Given the description of an element on the screen output the (x, y) to click on. 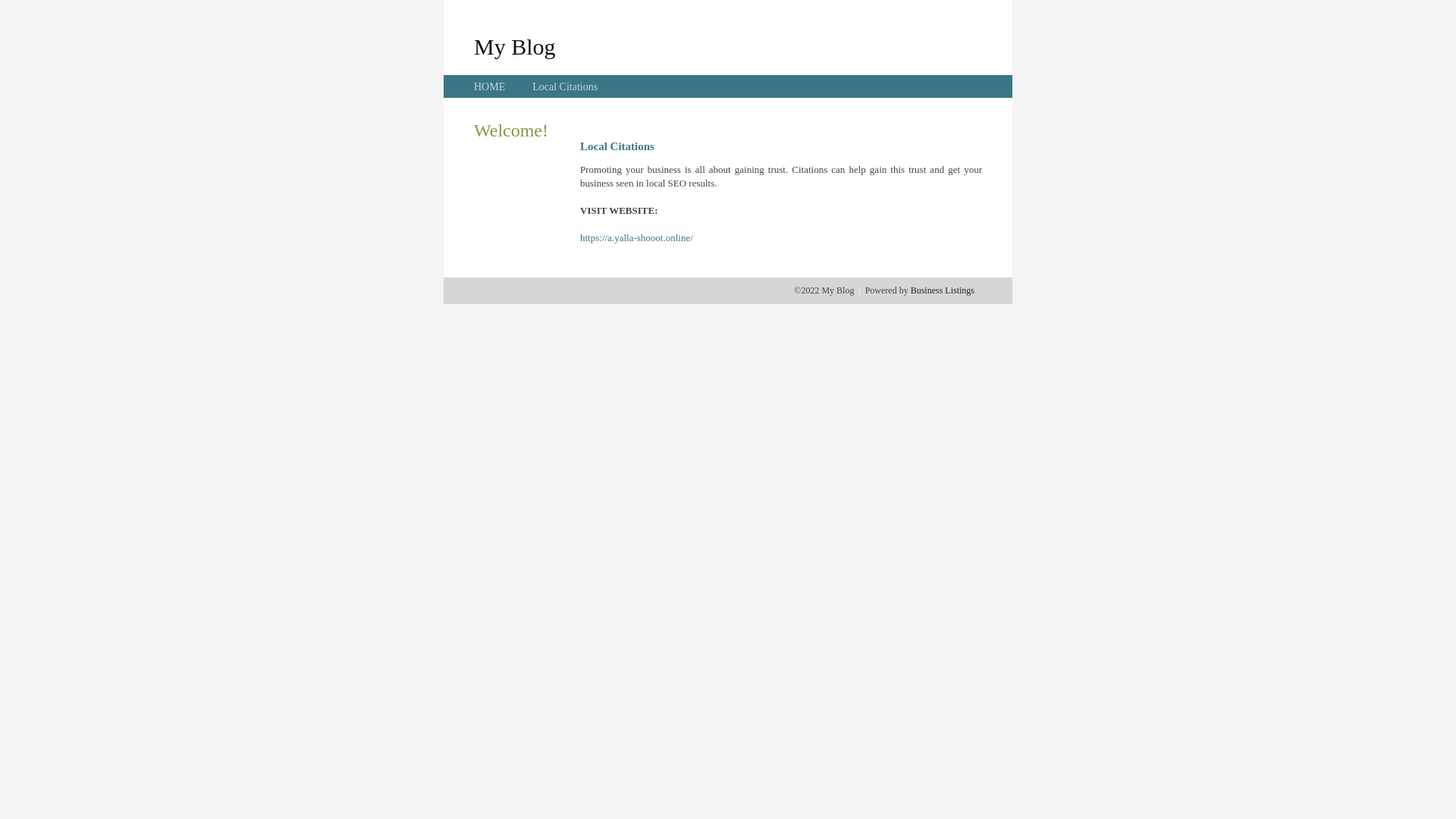
Business Listings Element type: text (942, 290)
HOME Element type: text (489, 86)
Local Citations Element type: text (564, 86)
https://a.yalla-shooot.online/ Element type: text (636, 237)
My Blog Element type: text (514, 46)
